Given the description of an element on the screen output the (x, y) to click on. 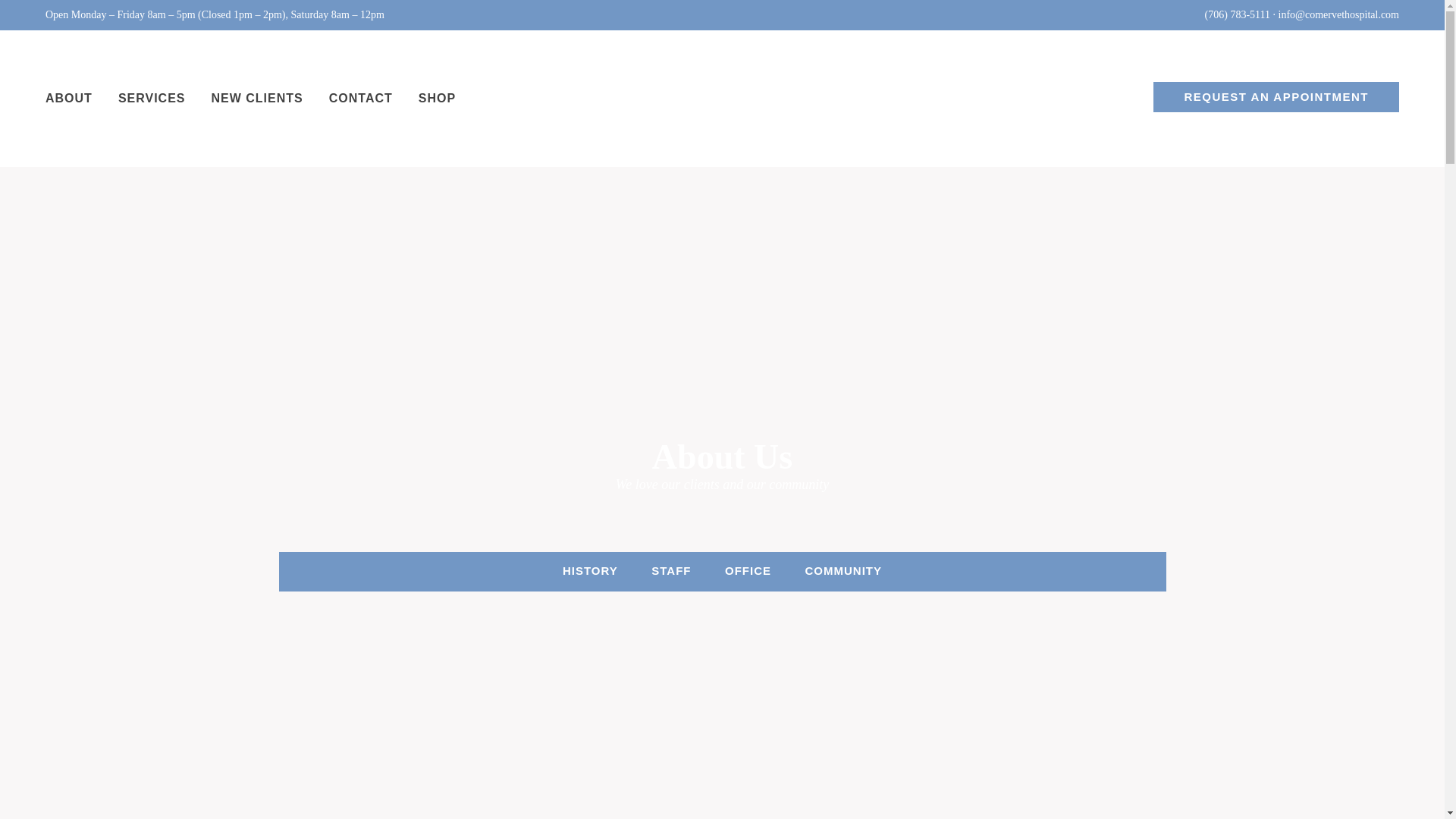
OFFICE (748, 570)
ABOUT (69, 98)
COMMUNITY (843, 570)
HISTORY (589, 570)
NEW CLIENTS (256, 98)
CONTACT (361, 98)
SHOP (437, 98)
SERVICES (151, 98)
STAFF (670, 570)
CUSTOMLIVESTOCKSOLUTIONS.COM (722, 627)
